Given the description of an element on the screen output the (x, y) to click on. 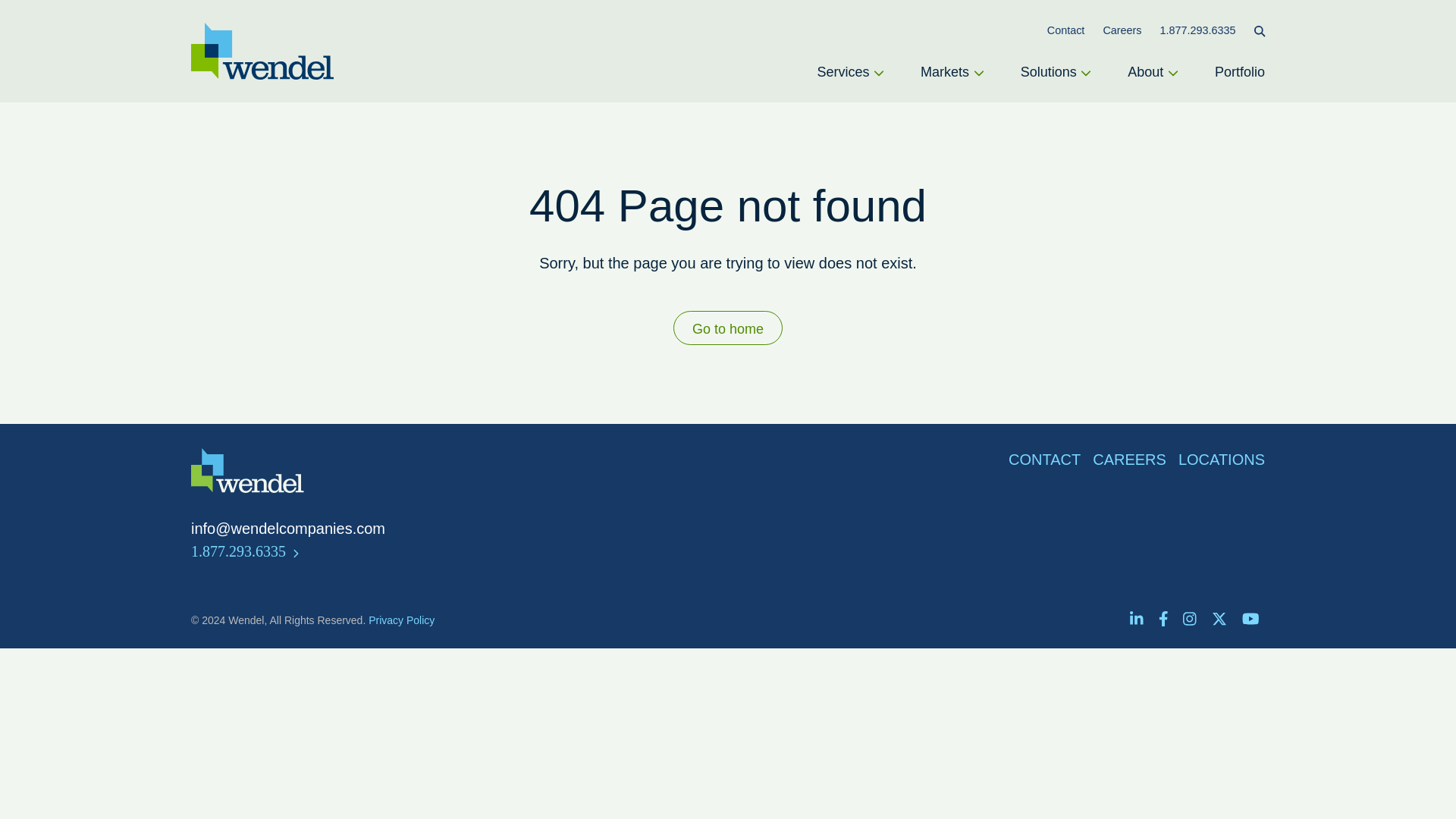
Services (849, 73)
Open Search Form (1259, 30)
1.877.293.6335 (1198, 30)
Open Search Form (1259, 30)
Contact (1065, 30)
Careers (1121, 30)
